Given the description of an element on the screen output the (x, y) to click on. 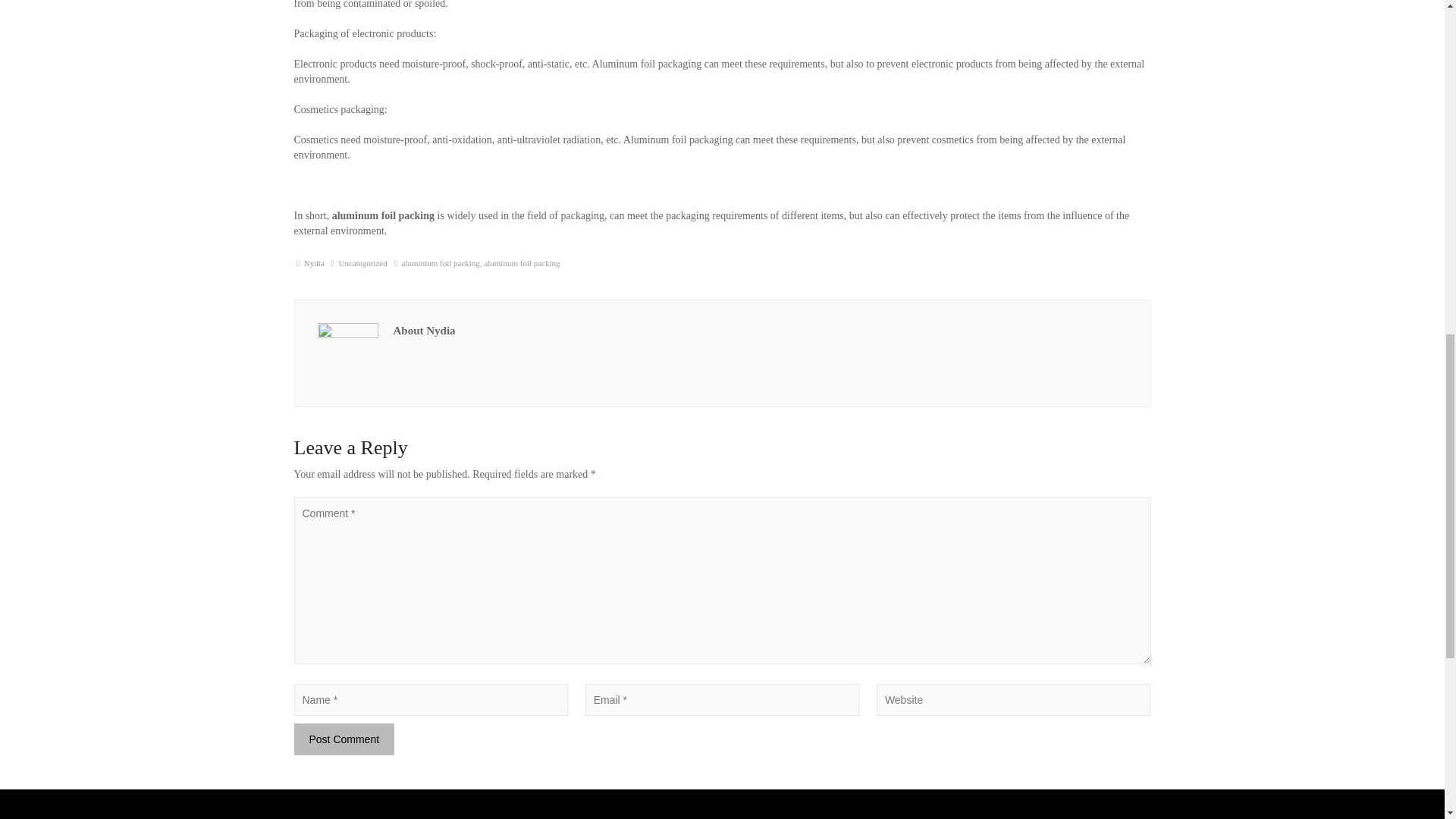
aluminium foil packing (440, 262)
Post Comment (344, 739)
Nydia (314, 262)
Posts by Nydia (314, 262)
Uncategorized (363, 262)
Post Comment (344, 739)
aluminum foil packing (521, 262)
